Given the description of an element on the screen output the (x, y) to click on. 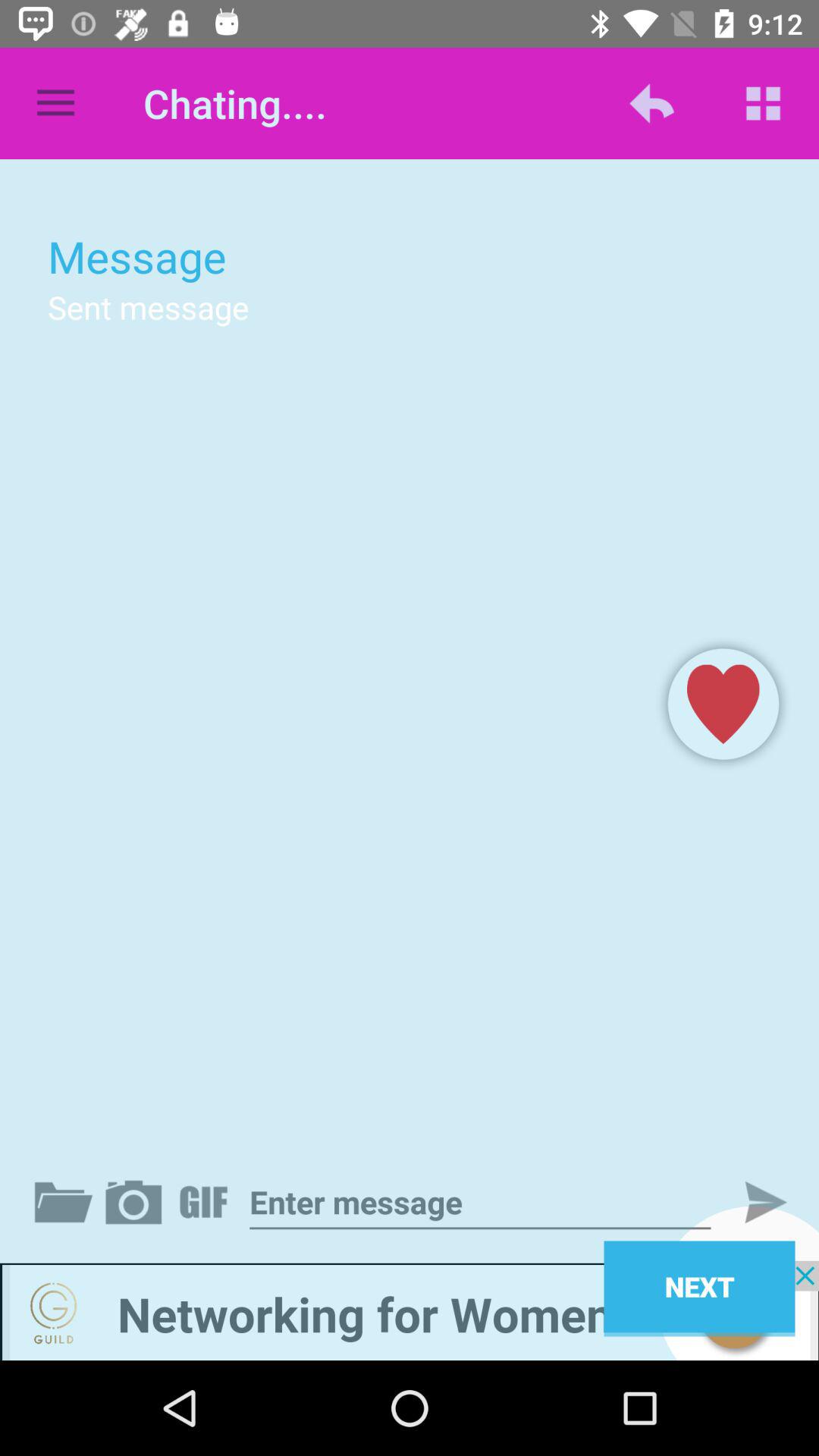
gif button (206, 1202)
